Given the description of an element on the screen output the (x, y) to click on. 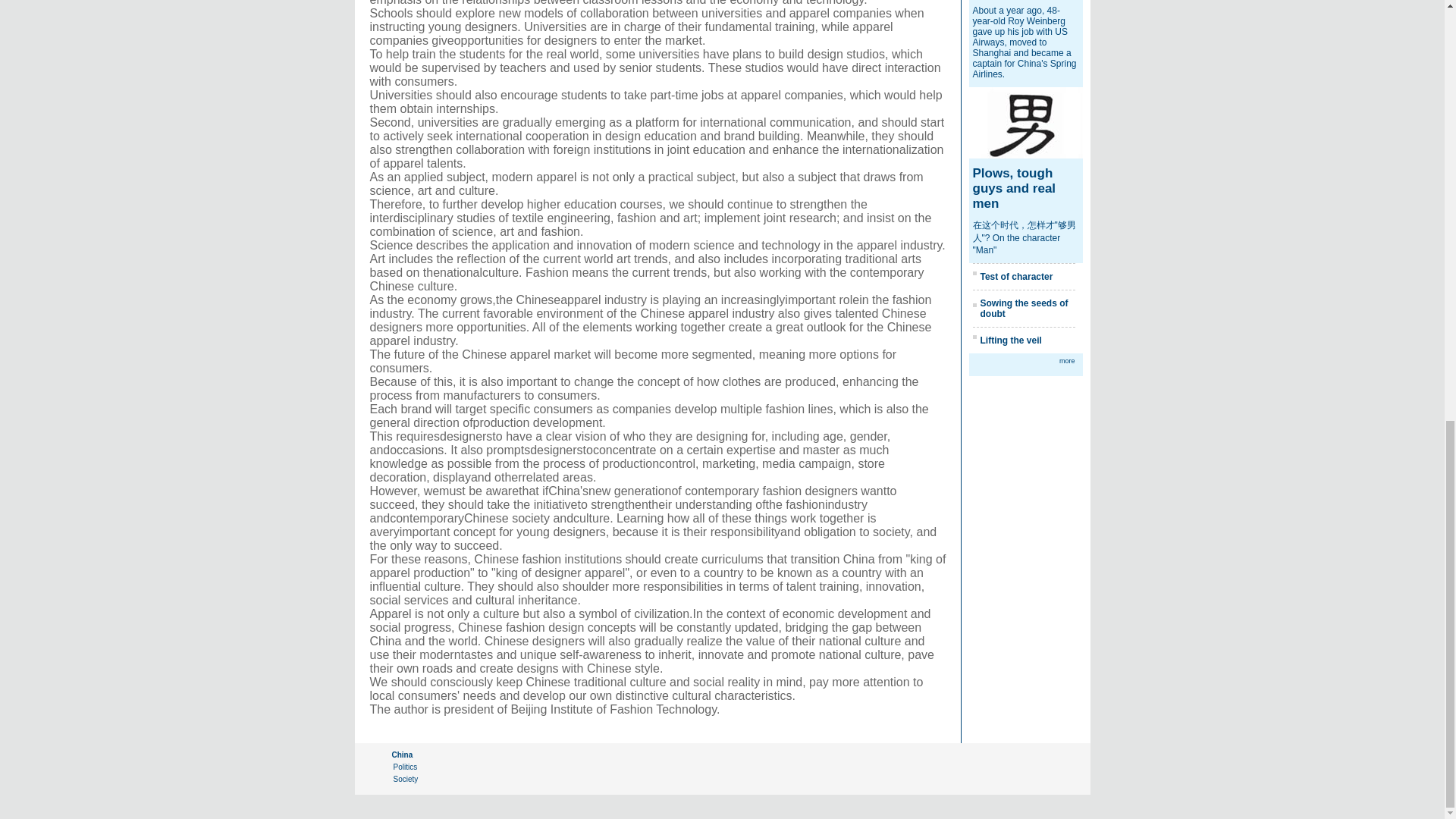
Lifting the veil (1010, 339)
Plows, tough guys and real men (1013, 188)
Test of character (1015, 276)
more (1067, 360)
Sowing the seeds of doubt (1023, 308)
